Given the description of an element on the screen output the (x, y) to click on. 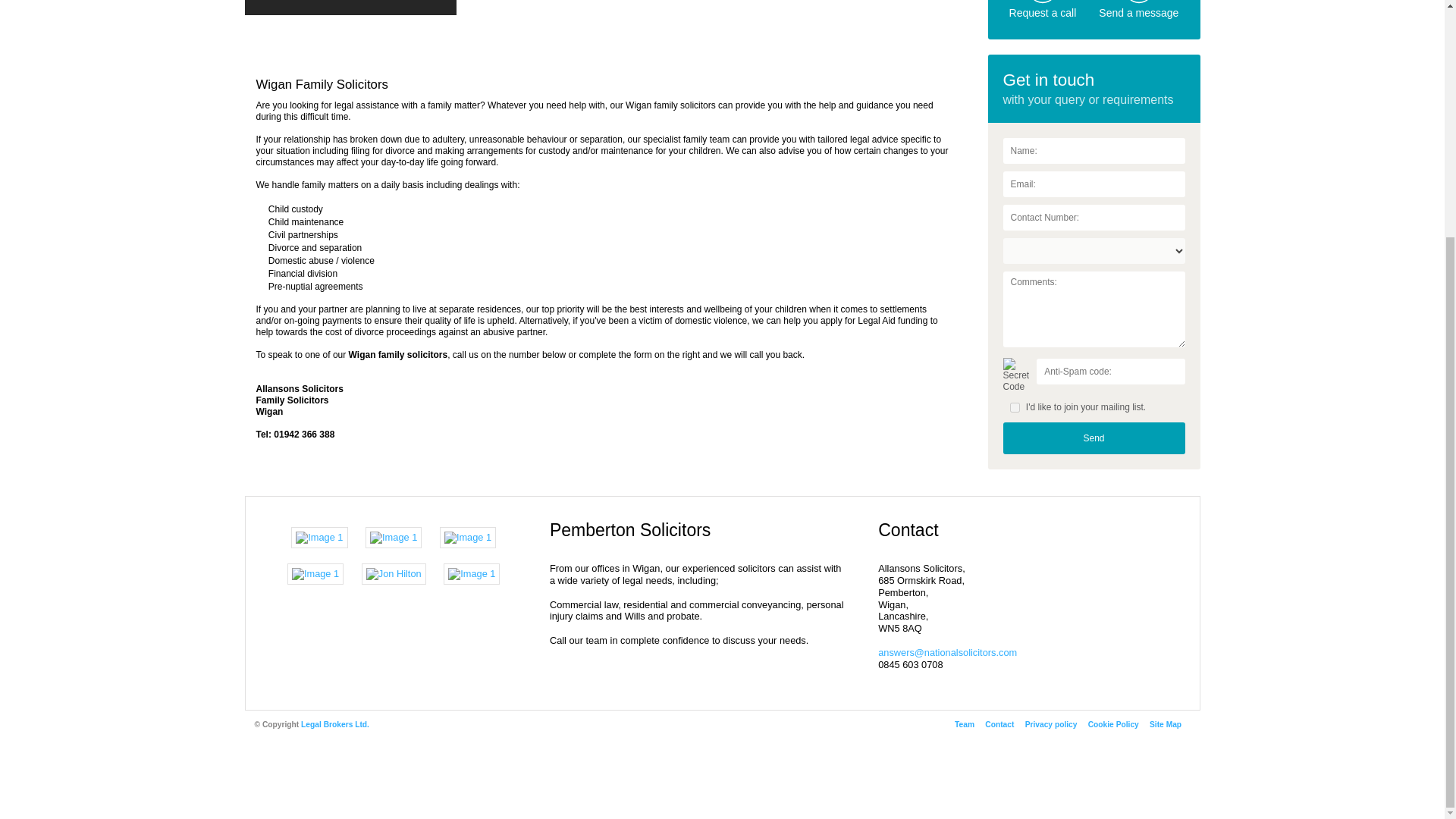
Privacy policy (1051, 724)
Send (1094, 438)
Send (1094, 438)
Team (964, 724)
Jon Hilton (394, 573)
Andrea Coen (318, 537)
Send a message (1138, 12)
1 (1015, 407)
Legal Brokers Ltd. (335, 724)
Request a call (1043, 12)
Nick Parker (471, 573)
Sonia Welch (392, 537)
Cookie Policy (1112, 724)
Contact (999, 724)
Site Map (1165, 724)
